Given the description of an element on the screen output the (x, y) to click on. 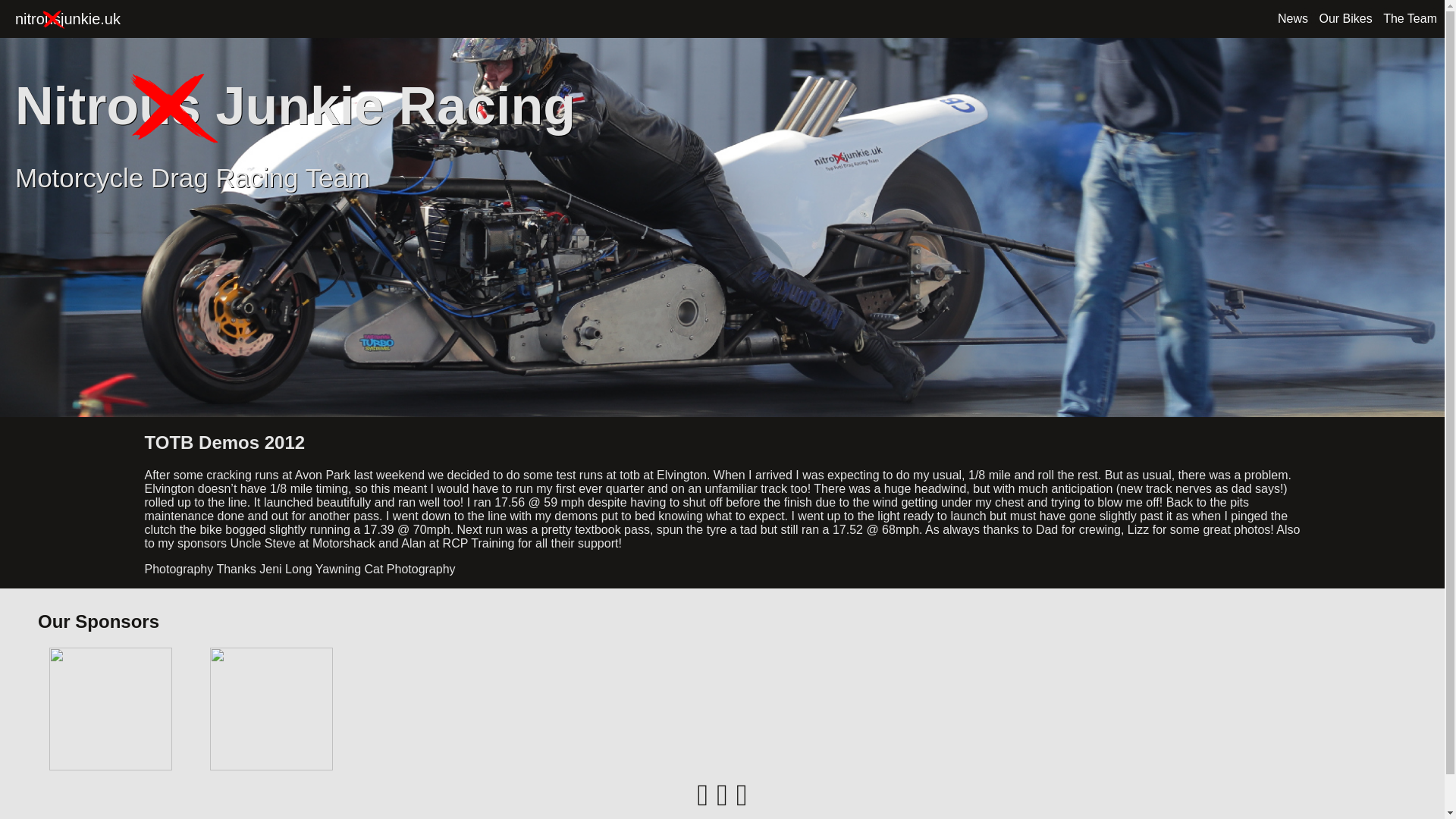
The Team (60, 18)
News (1409, 18)
Our Bikes (1292, 18)
